Given the description of an element on the screen output the (x, y) to click on. 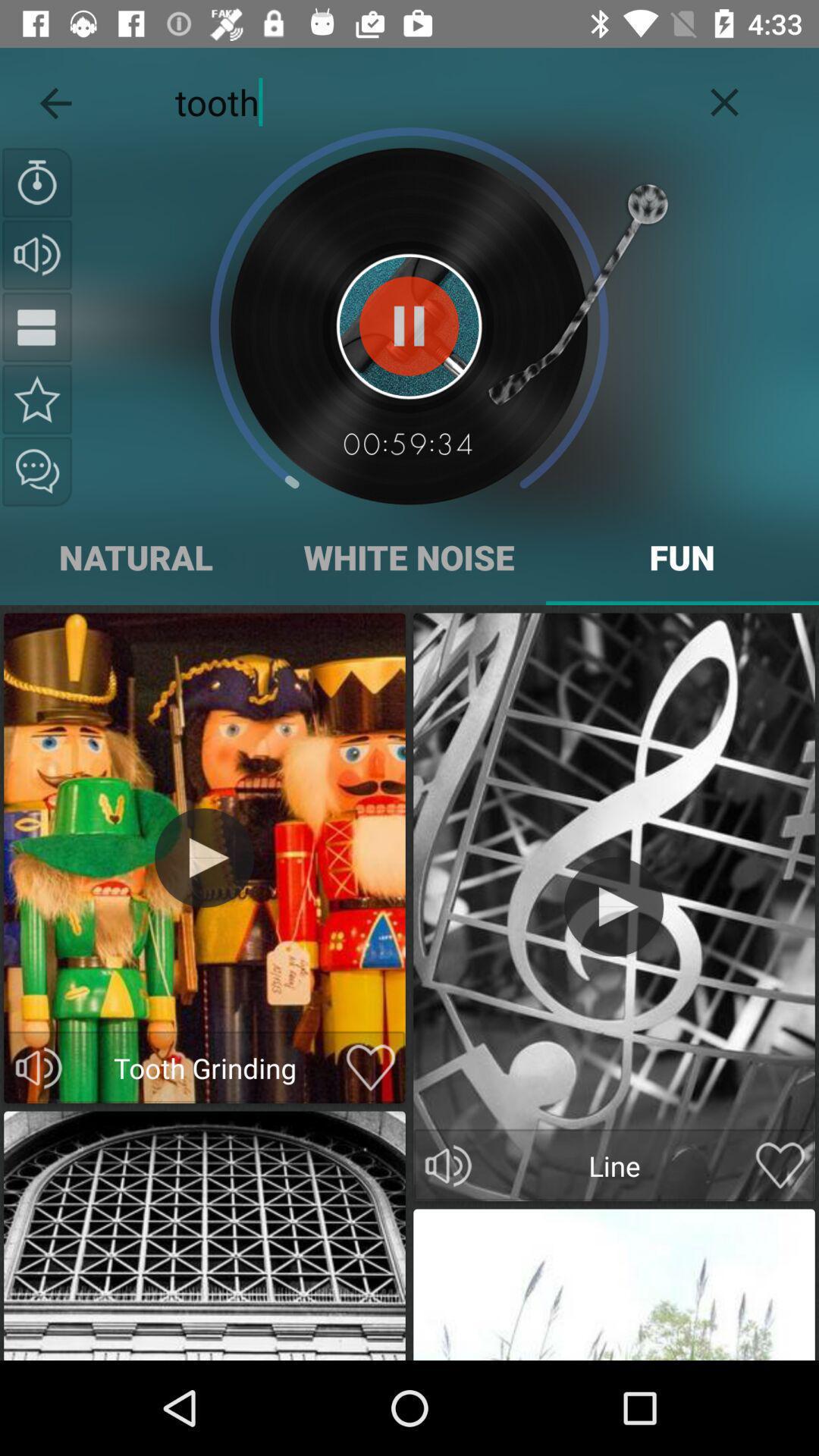
add favorite (780, 1165)
